Given the description of an element on the screen output the (x, y) to click on. 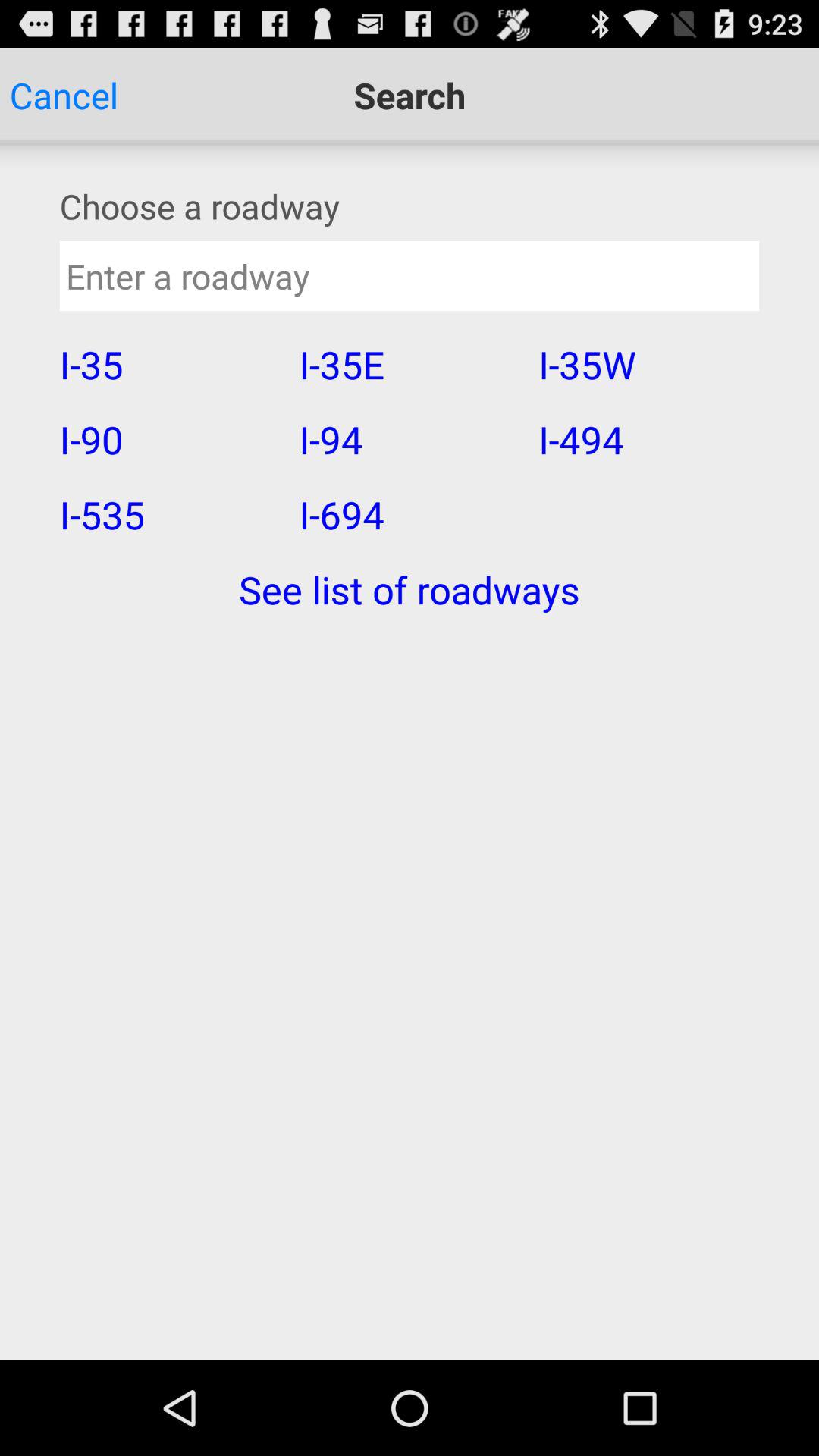
to enter road name (409, 276)
